Given the description of an element on the screen output the (x, y) to click on. 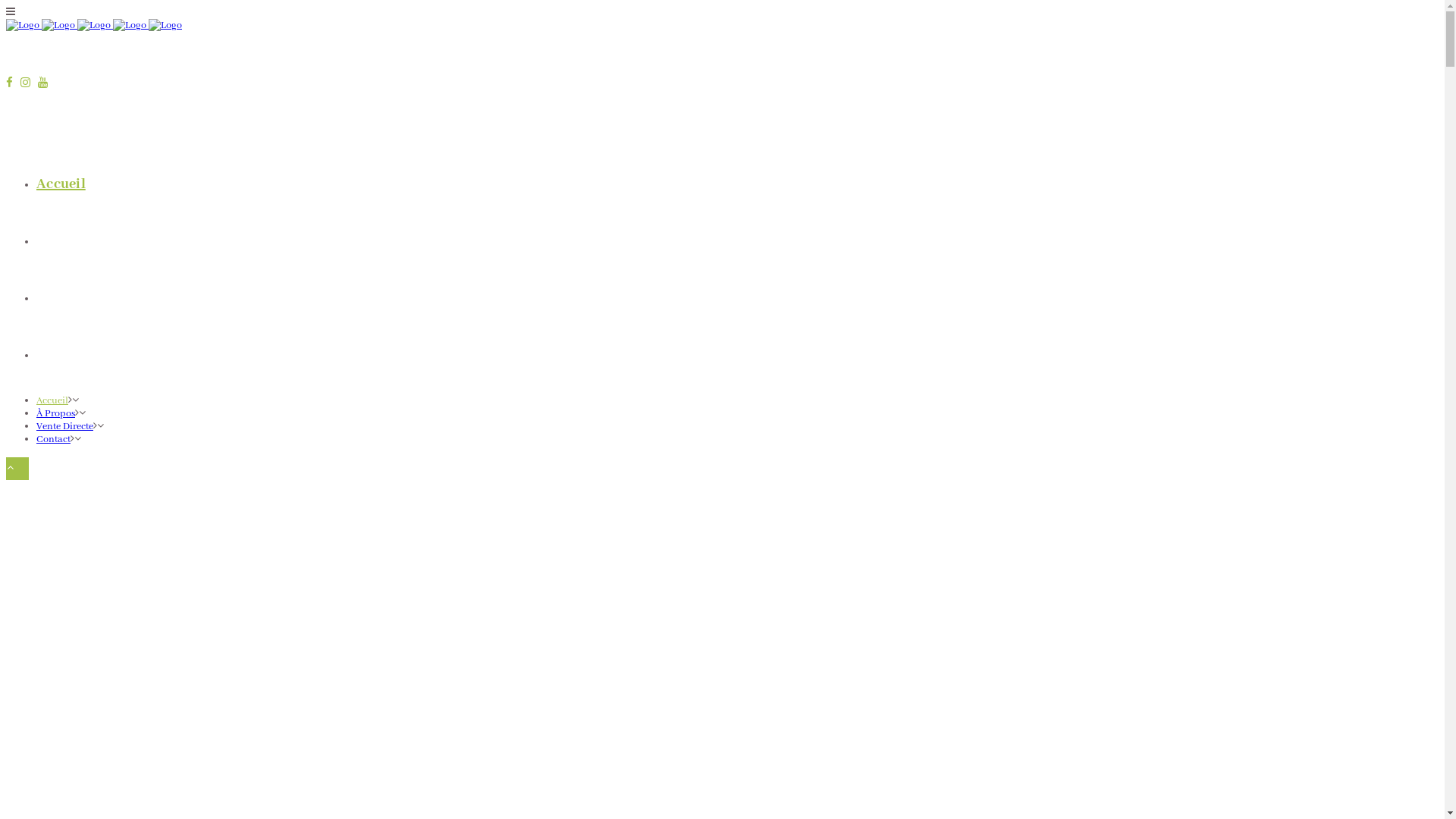
Vente Directe Element type: text (80, 297)
Contact Element type: text (53, 439)
Contact Element type: text (61, 354)
Accueil Element type: text (60, 184)
Accueil Element type: text (52, 400)
Vente Directe Element type: text (64, 426)
